Given the description of an element on the screen output the (x, y) to click on. 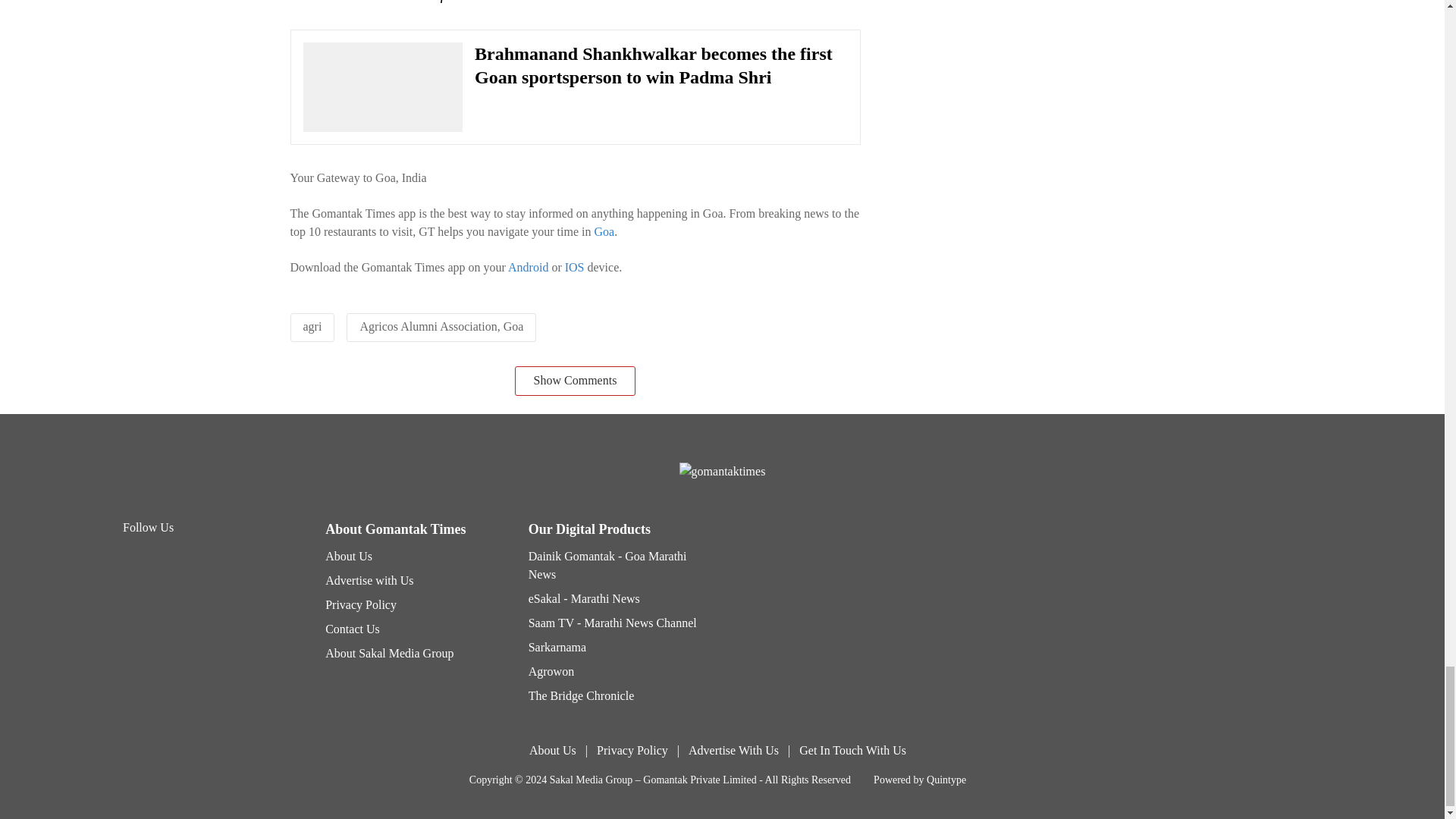
Android (528, 267)
Goa (604, 231)
